Given the description of an element on the screen output the (x, y) to click on. 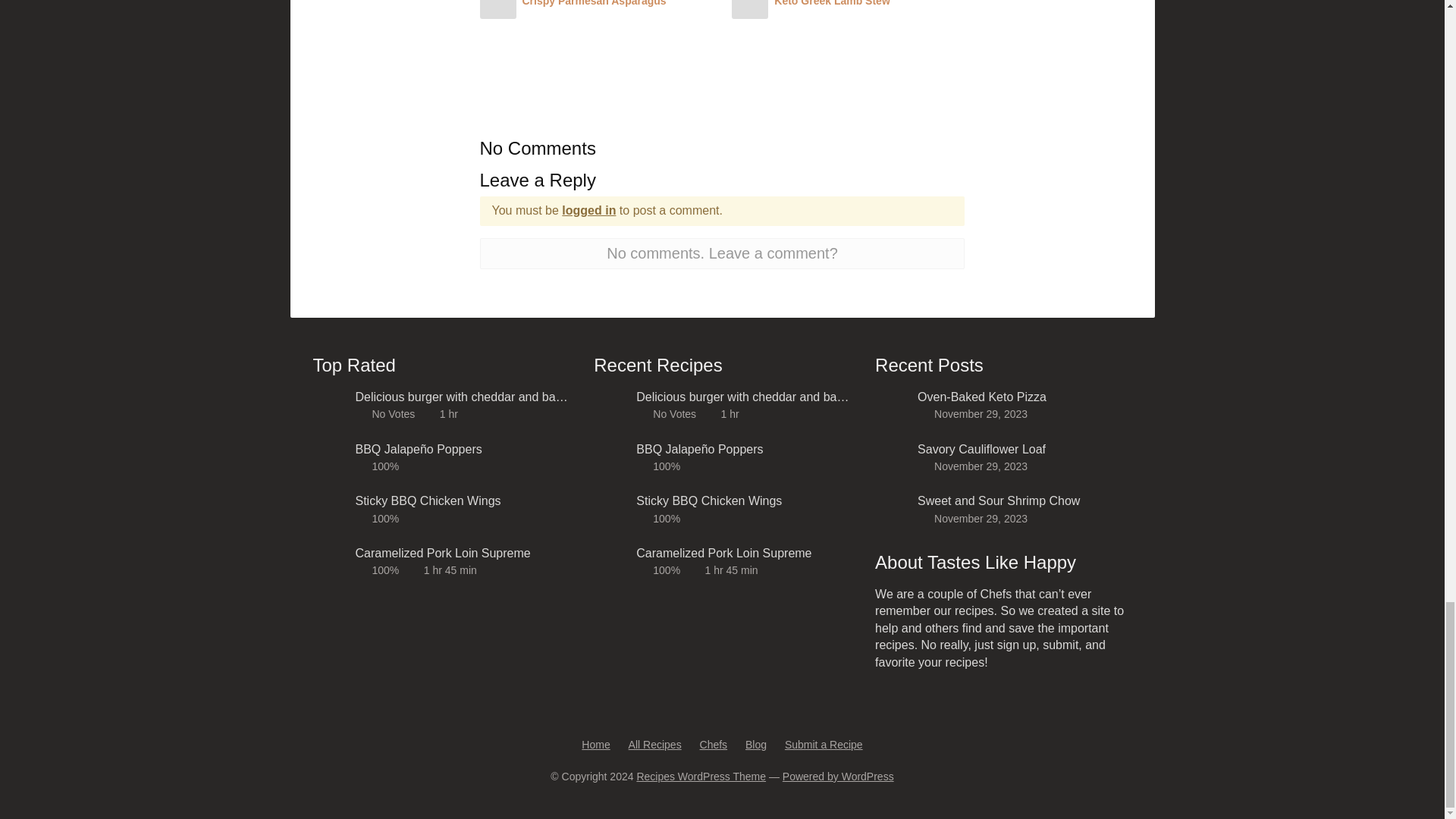
Delicious burger with cheddar and bacon (462, 397)
No comments. Leave a comment? (721, 253)
Delicious burger with cheddar and bacon (743, 397)
logged in (588, 210)
Sticky BBQ Chicken Wings (462, 501)
Crispy Parmesan Asparagus (593, 3)
Keto Greek Lamb Stew (831, 3)
Caramelized Pork Loin Supreme (462, 553)
Sticky BBQ Chicken Wings (743, 501)
